Given the description of an element on the screen output the (x, y) to click on. 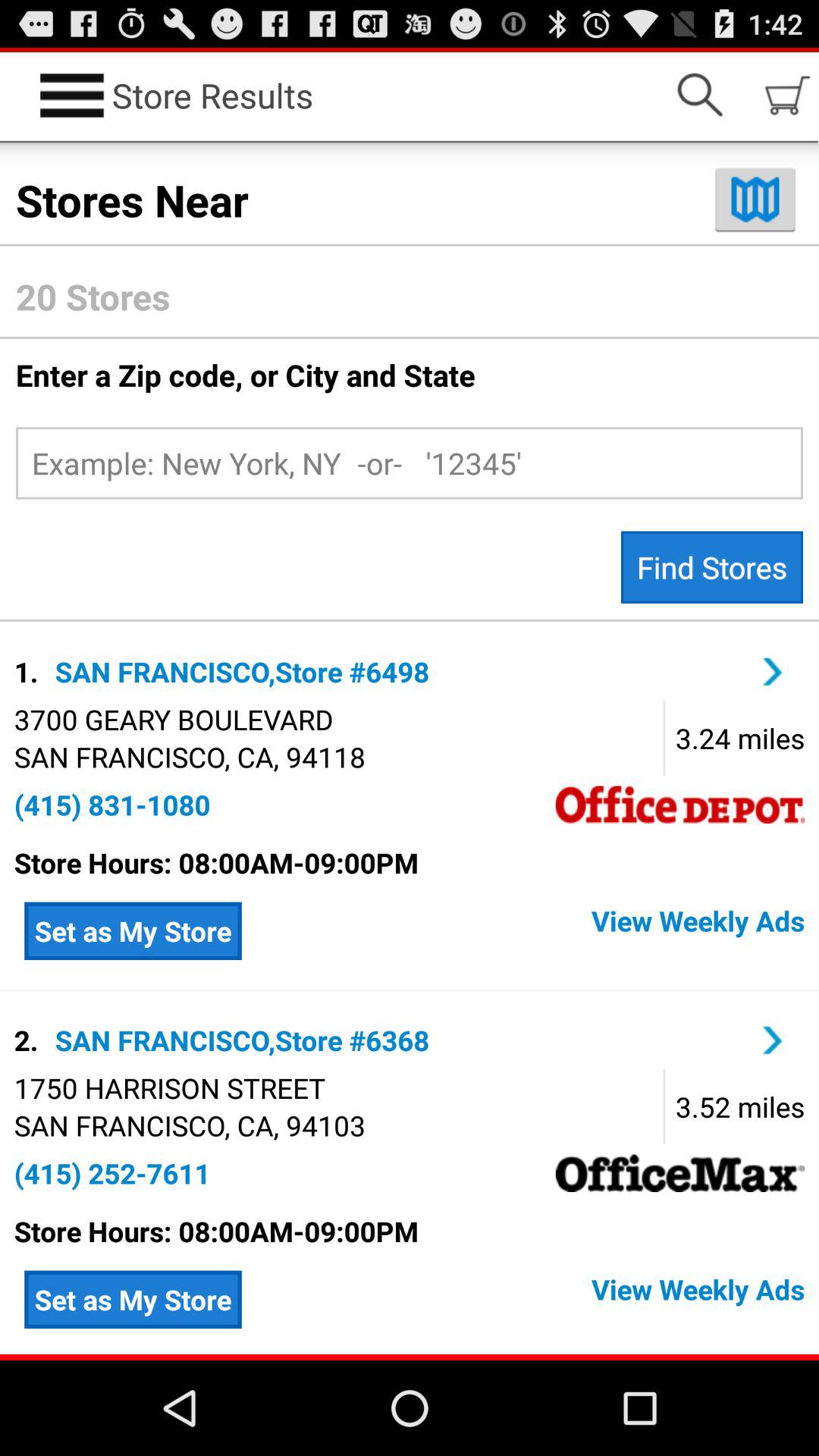
fill your zip code and country (409, 463)
